Given the description of an element on the screen output the (x, y) to click on. 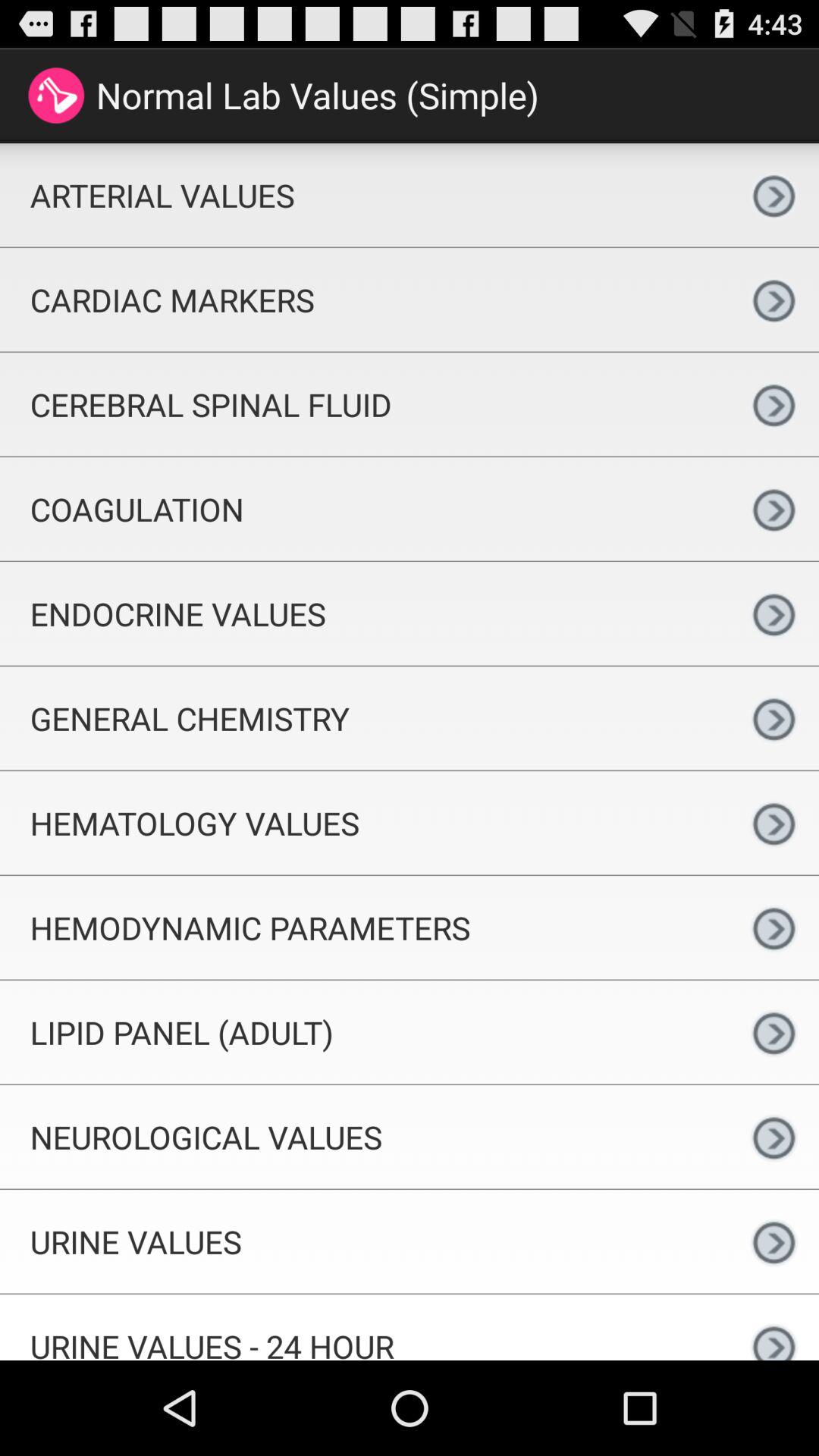
turn off the icon below hemodynamic parameters icon (364, 1032)
